Given the description of an element on the screen output the (x, y) to click on. 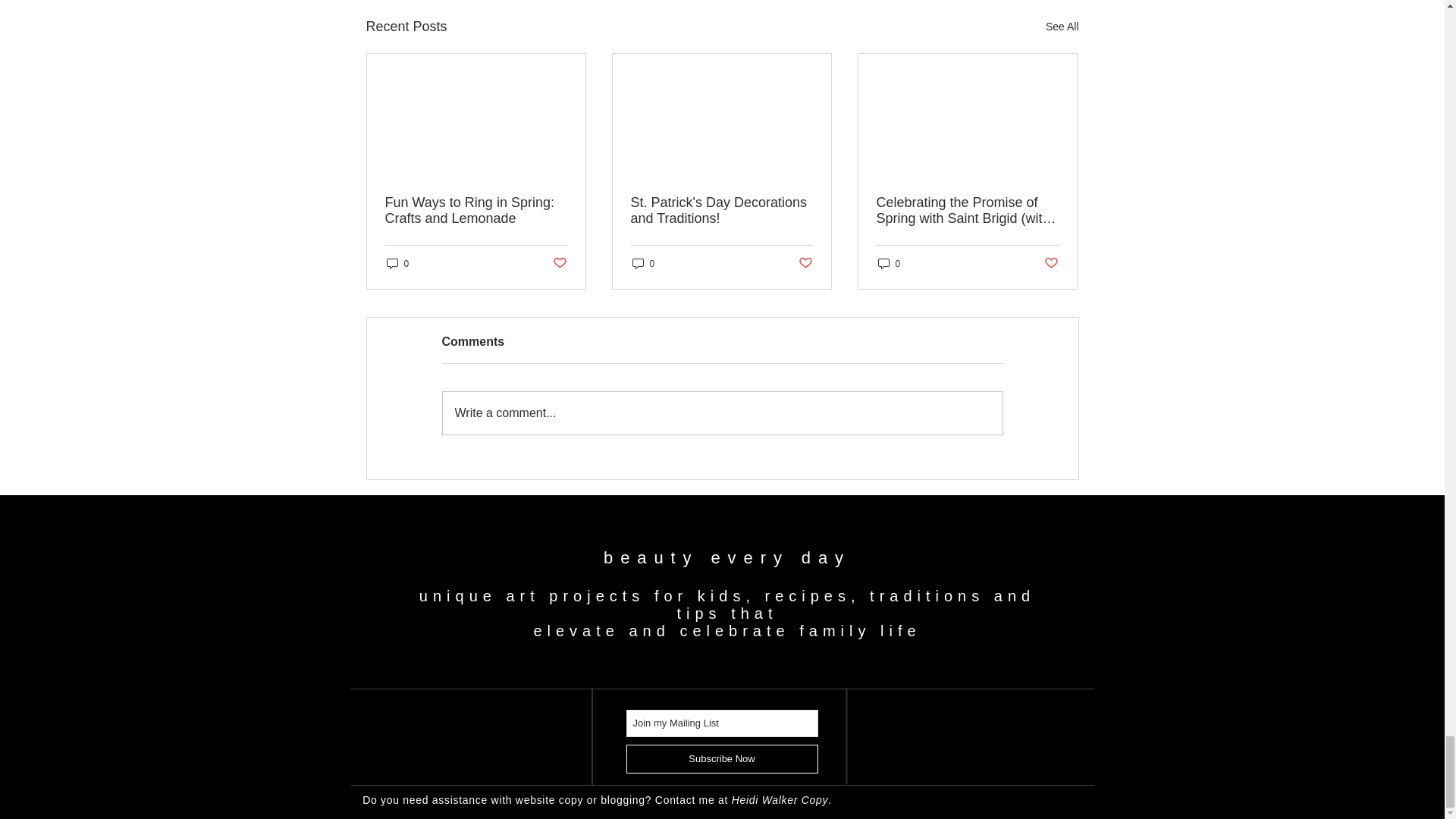
St. Patrick's Day Decorations and Traditions! (721, 210)
Post not marked as liked (804, 263)
Post not marked as liked (1050, 263)
Fun Ways to Ring in Spring: Crafts and Lemonade (476, 210)
0 (889, 263)
See All (1061, 26)
0 (643, 263)
Post not marked as liked (558, 263)
0 (397, 263)
Write a comment... (722, 413)
